Given the description of an element on the screen output the (x, y) to click on. 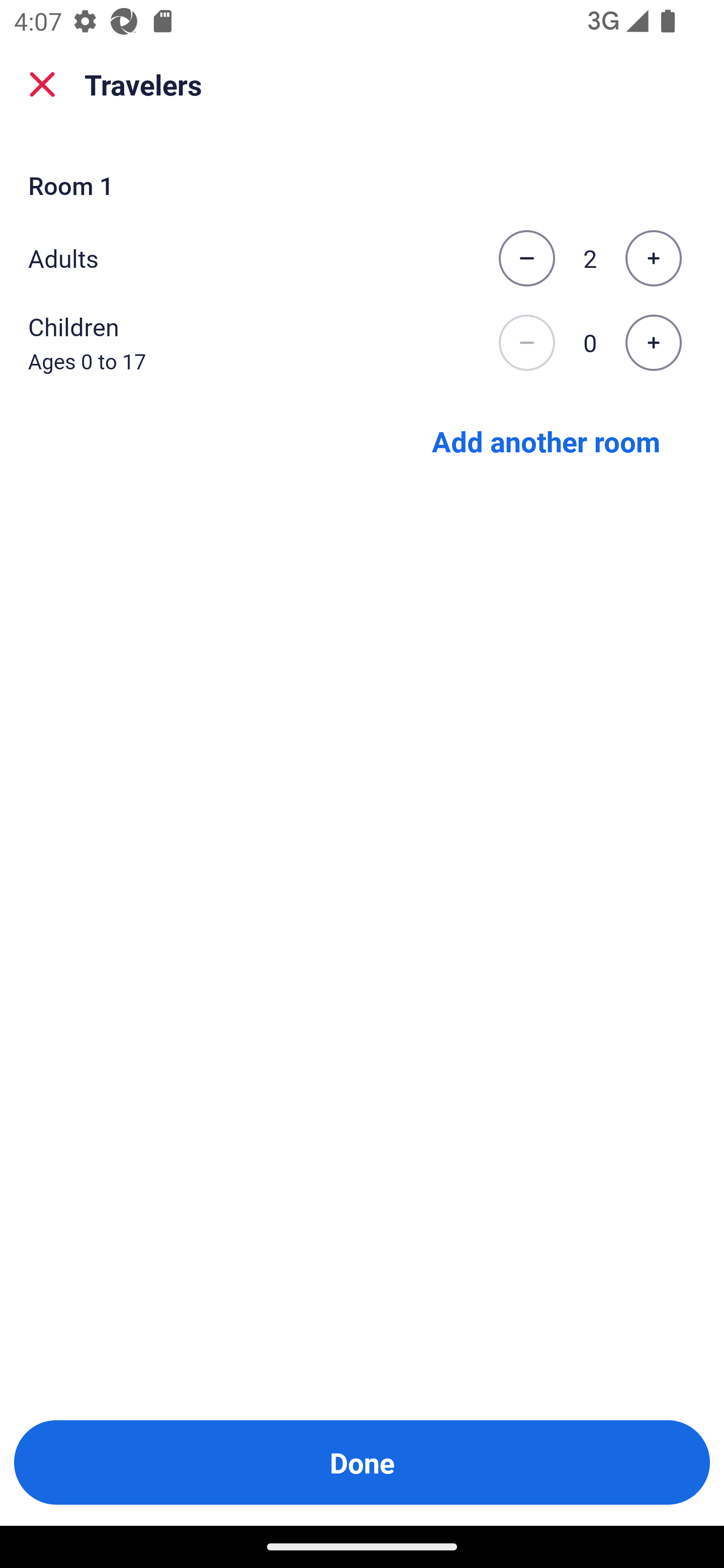
close (42, 84)
Decrease the number of adults (526, 258)
Increase the number of adults (653, 258)
Decrease the number of children (526, 343)
Increase the number of children (653, 343)
Add another room (545, 440)
Done (361, 1462)
